Given the description of an element on the screen output the (x, y) to click on. 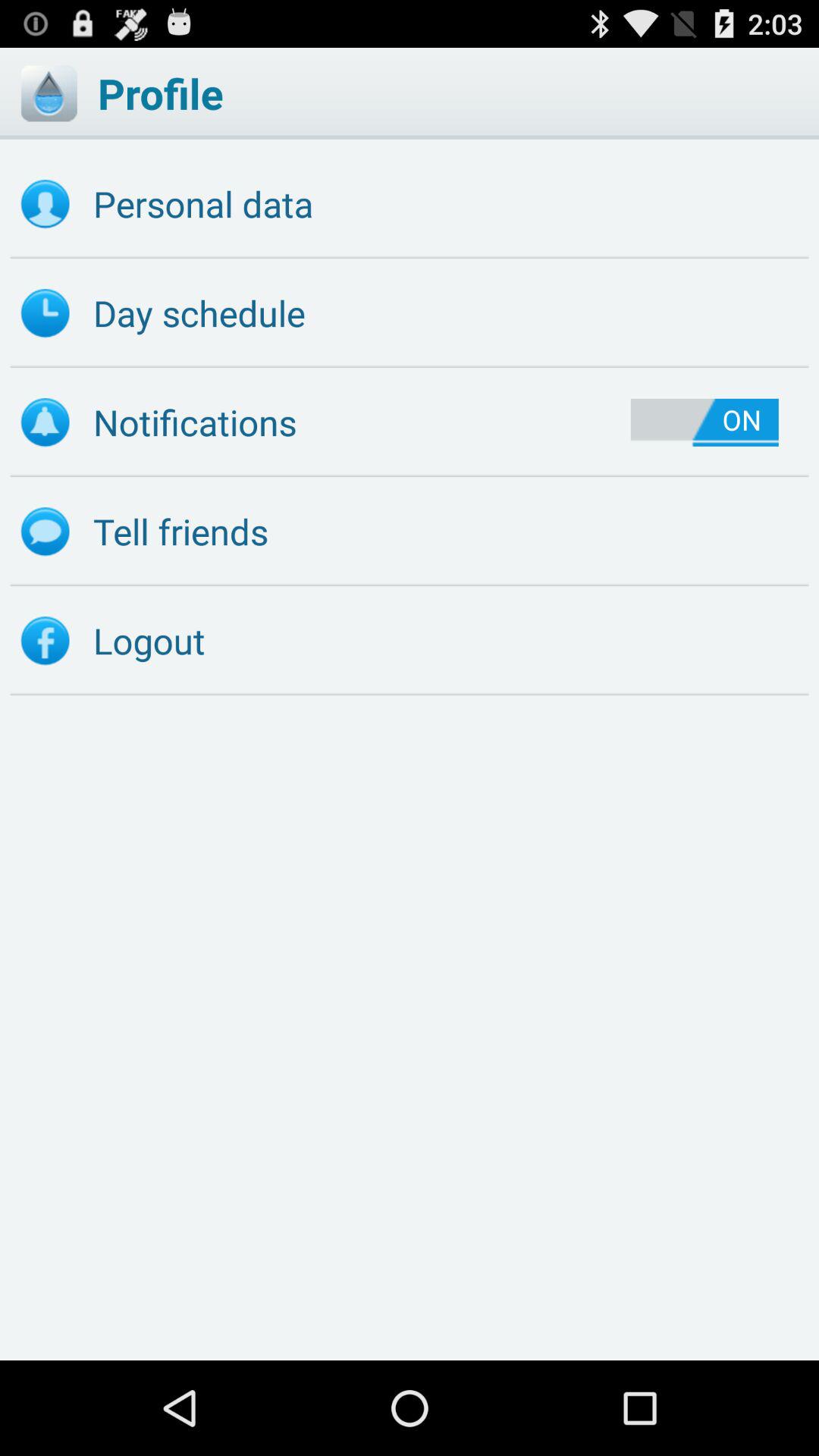
open profile details (48, 93)
